Given the description of an element on the screen output the (x, y) to click on. 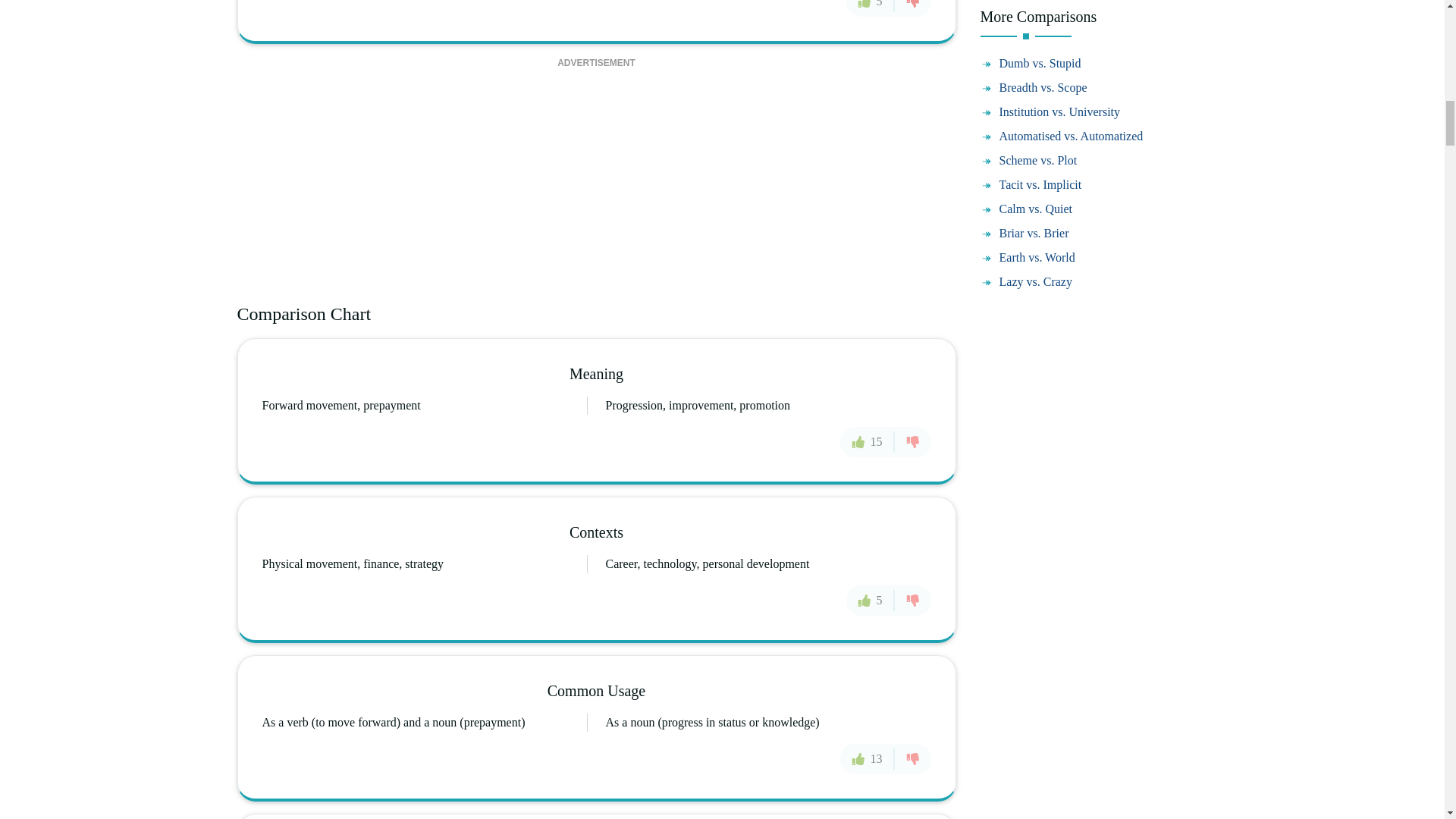
13 (867, 758)
5 (870, 600)
5 (870, 8)
15 (867, 441)
